Given the description of an element on the screen output the (x, y) to click on. 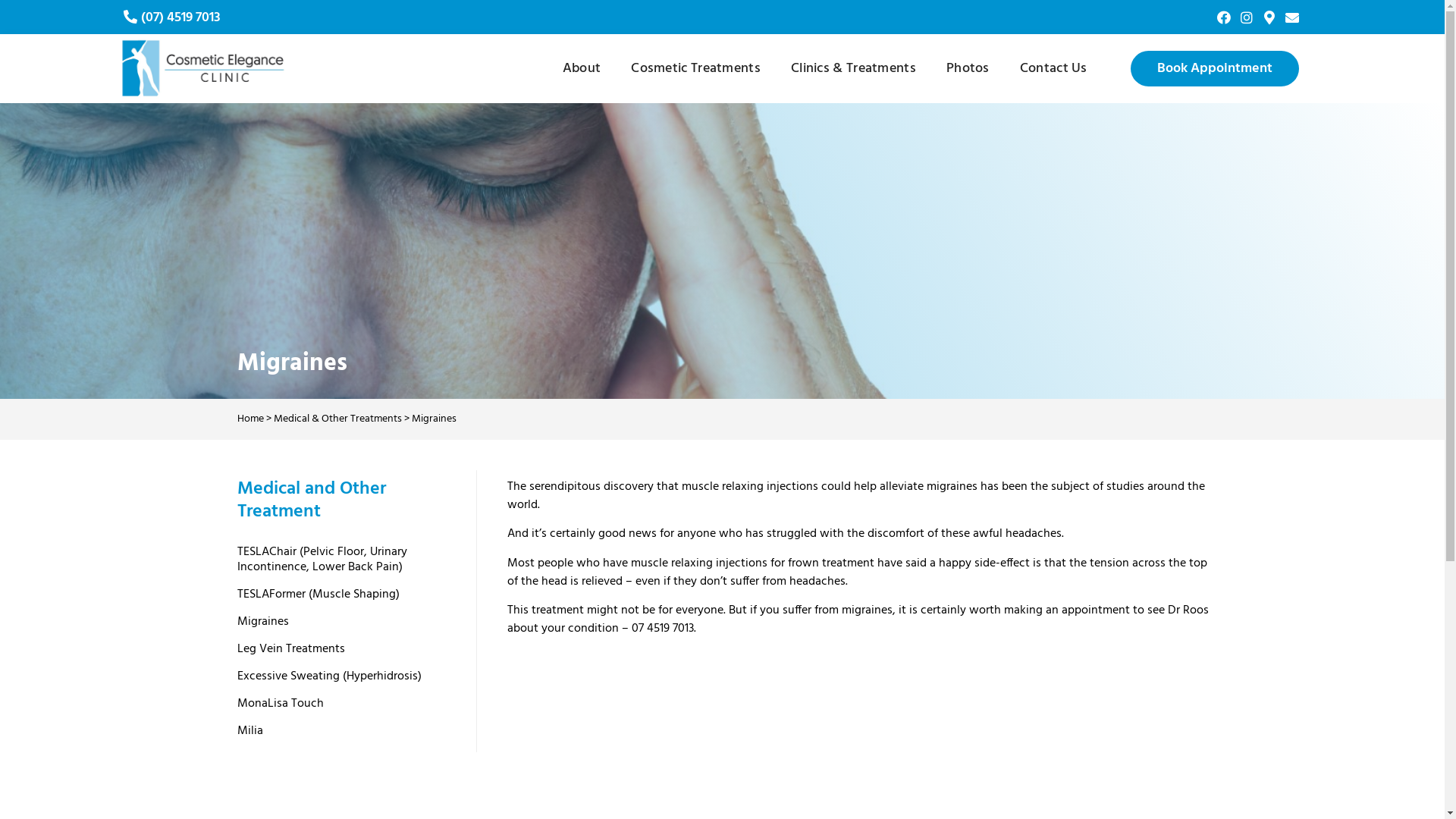
Photos Element type: text (967, 68)
Book Appointment Element type: text (1214, 68)
About Element type: text (581, 68)
Cosmetic Treatments Element type: text (695, 68)
Contact Us Element type: text (1053, 68)
TESLAFormer (Muscle Shaping) Element type: text (340, 594)
Clinics & Treatments Element type: text (853, 68)
Leg Vein Treatments Element type: text (340, 648)
Migraines Element type: text (340, 621)
MonaLisa Touch Element type: text (340, 703)
Home Element type: text (249, 418)
Excessive Sweating (Hyperhidrosis) Element type: text (340, 676)
(07) 4519 7013 Element type: text (180, 17)
Milia Element type: text (340, 730)
Medical & Other Treatments Element type: text (337, 418)
